Given the description of an element on the screen output the (x, y) to click on. 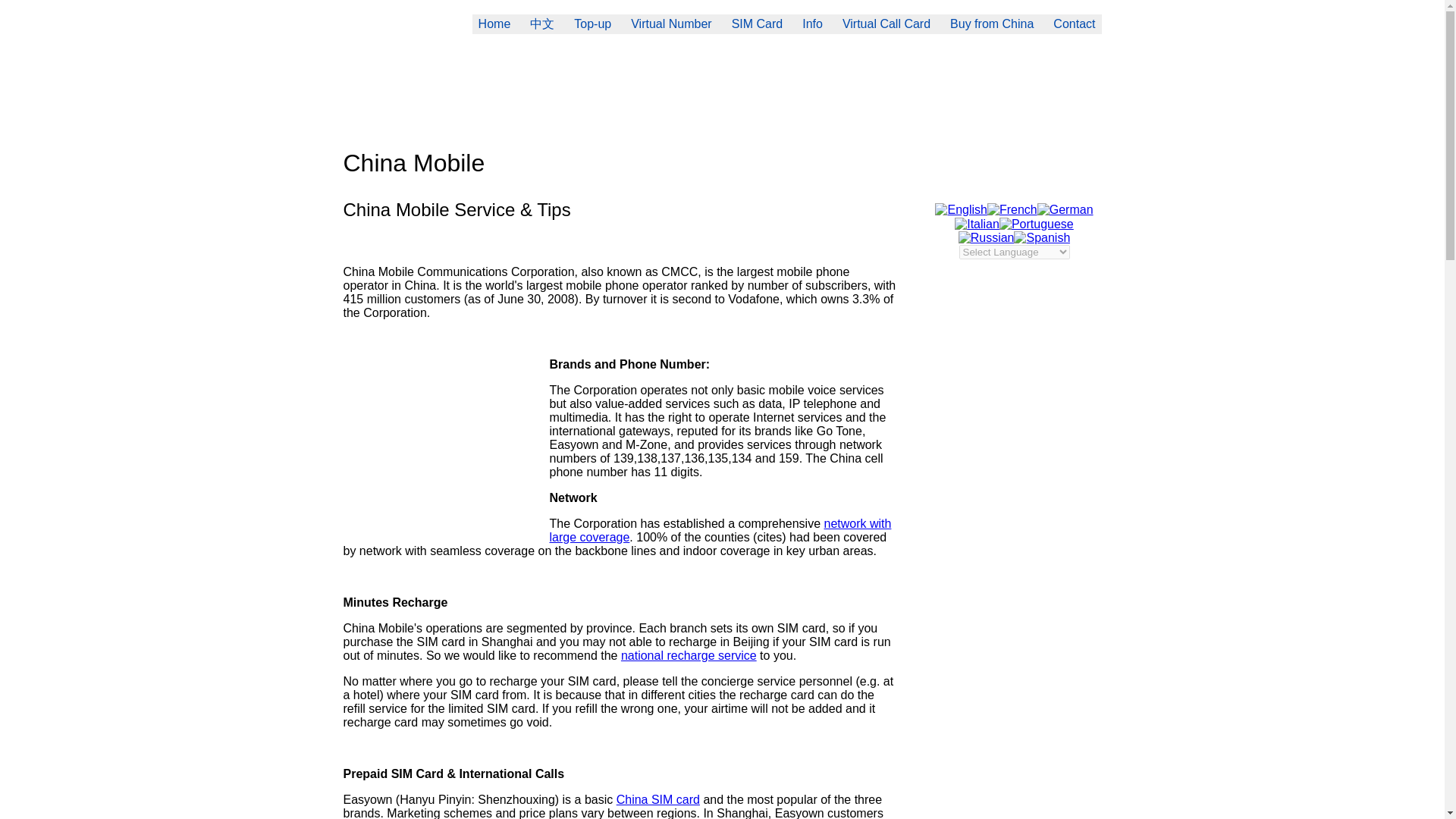
Spanish (1041, 237)
German (1064, 209)
Portuguese (1036, 223)
Home (493, 24)
French (1011, 209)
Italian (976, 223)
network with large coverage (719, 529)
English (960, 209)
Russian (986, 237)
